Given the description of an element on the screen output the (x, y) to click on. 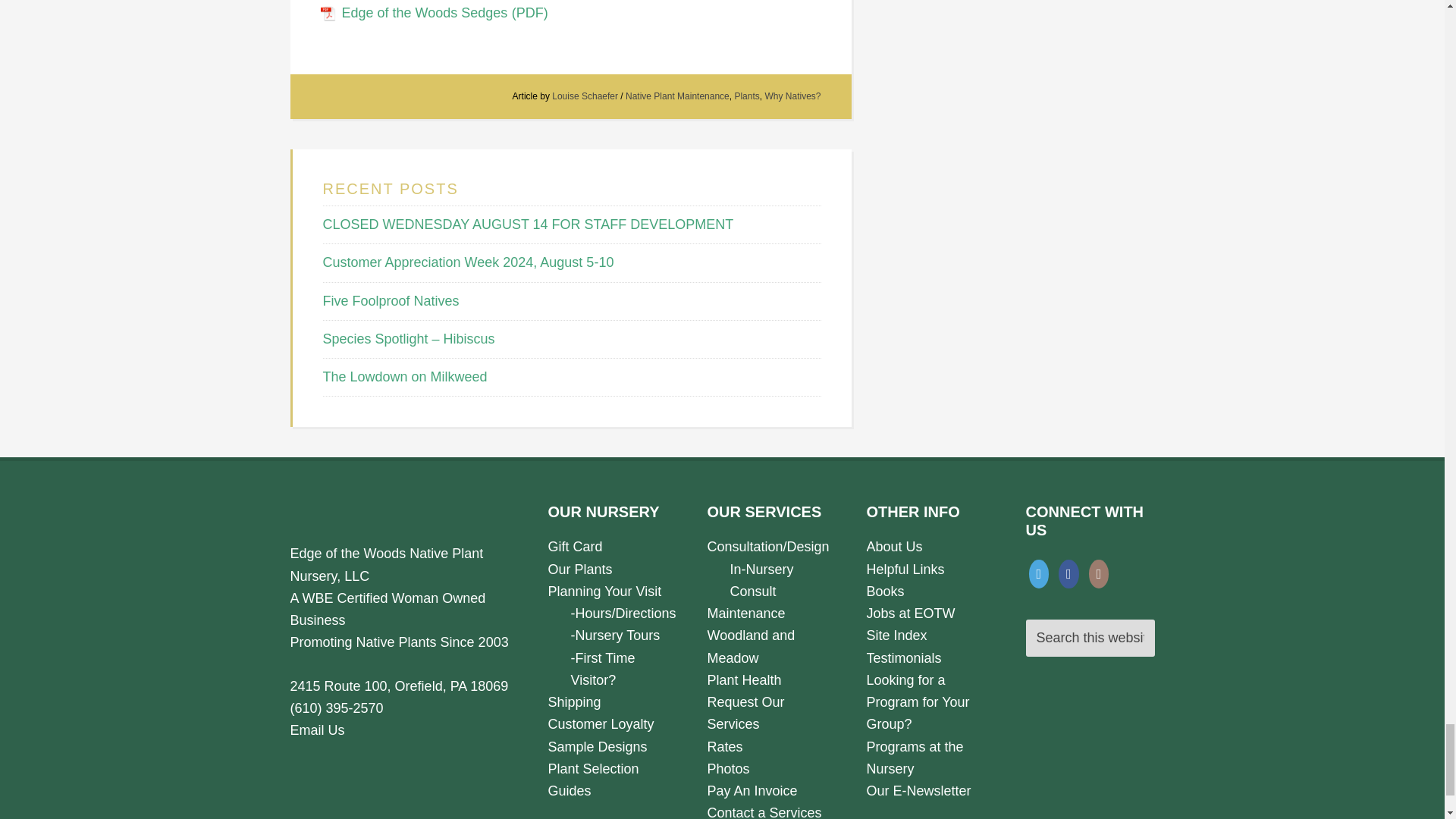
Email Us (316, 729)
Edge of the Woods Sedges (433, 12)
Customer Appreciation Week 2024, August 5-10 (468, 262)
Why Natives? (792, 95)
-First Time Visitor? (602, 668)
-Nursery Tours (614, 635)
CLOSED WEDNESDAY AUGUST 14 FOR STAFF DEVELOPMENT (528, 224)
The Lowdown on Milkweed (405, 376)
Posts by Louise Schaefer (584, 95)
